Given the description of an element on the screen output the (x, y) to click on. 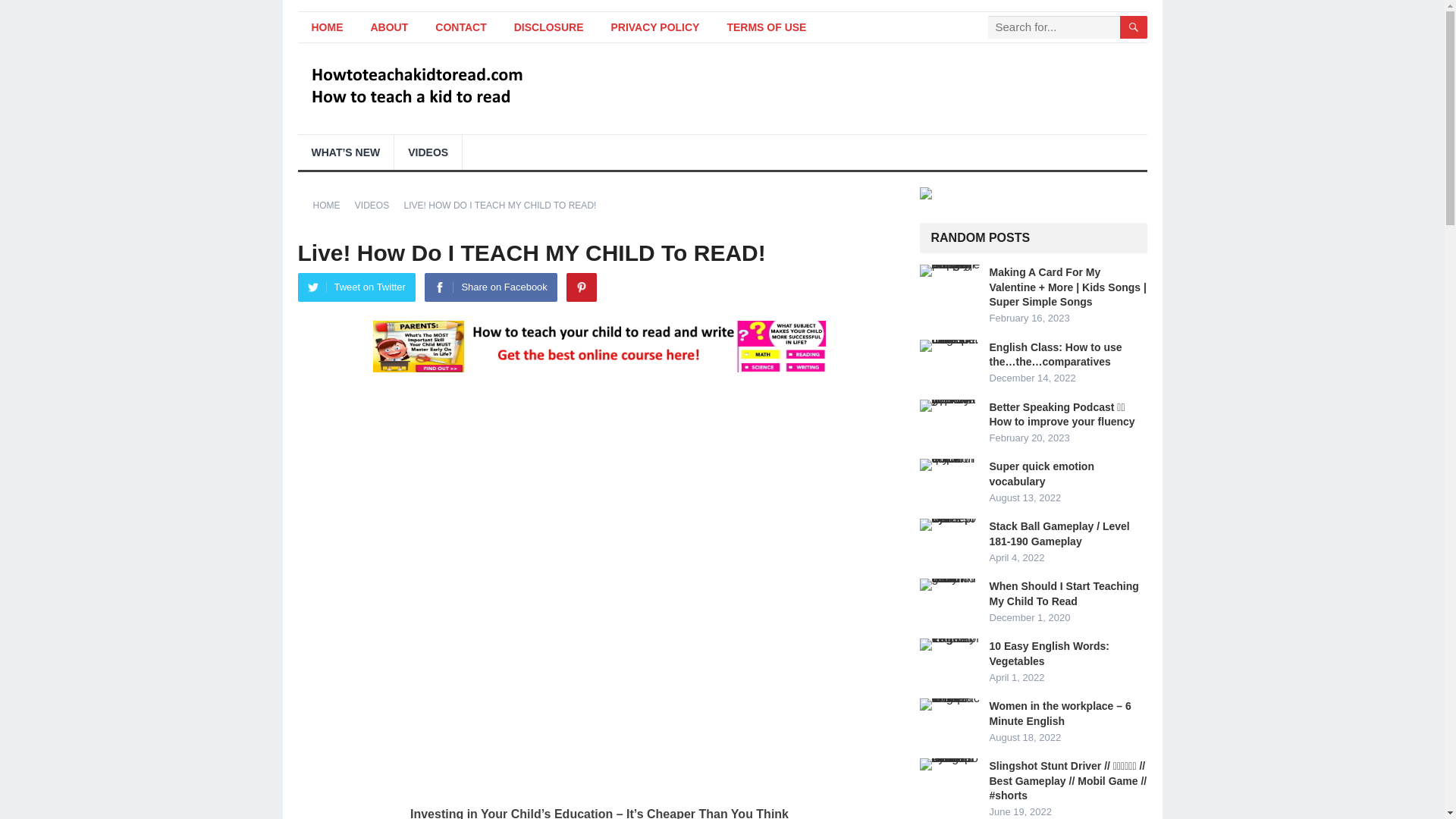
Share on Facebook (490, 287)
HOME (326, 27)
View all posts in Videos (376, 204)
CONTACT (460, 27)
TERMS OF USE (766, 27)
VIDEOS (427, 152)
HOME (331, 204)
When Should I Start Teaching My Child To Read 18 (948, 584)
ABOUT (389, 27)
